Given the description of an element on the screen output the (x, y) to click on. 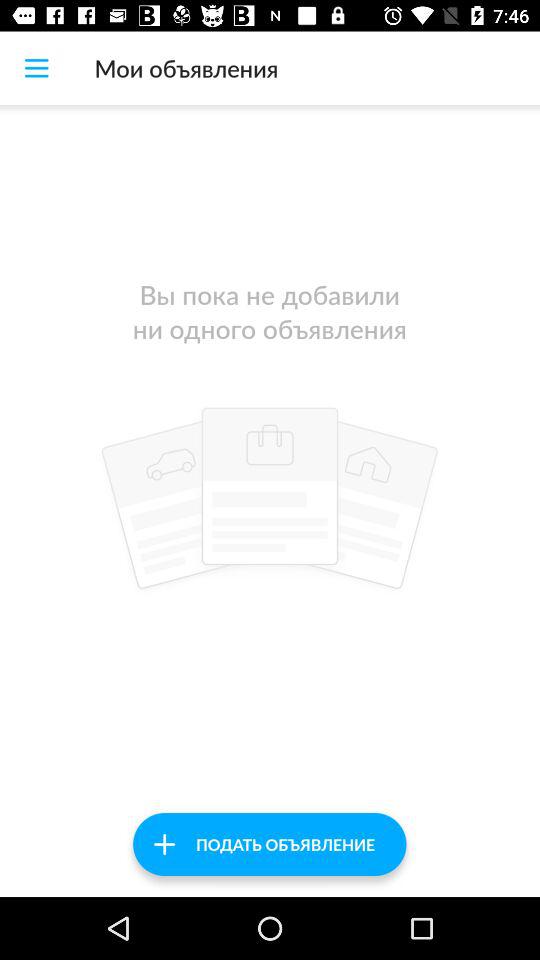
click item at the top left corner (36, 67)
